Given the description of an element on the screen output the (x, y) to click on. 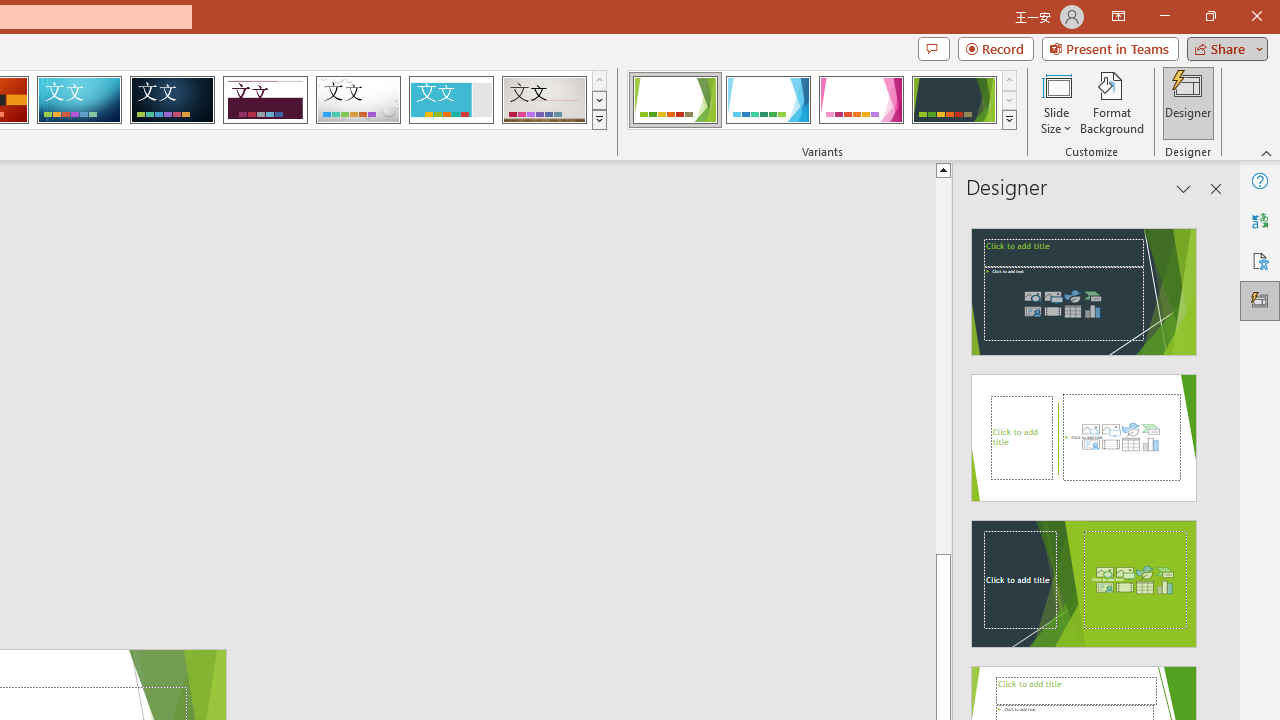
Facet Variant 3 (861, 100)
Facet Variant 2 (768, 100)
Format Background (1111, 102)
Frame (450, 100)
Circuit (79, 100)
Facet Variant 1 (674, 100)
Recommended Design: Design Idea (1083, 286)
